Given the description of an element on the screen output the (x, y) to click on. 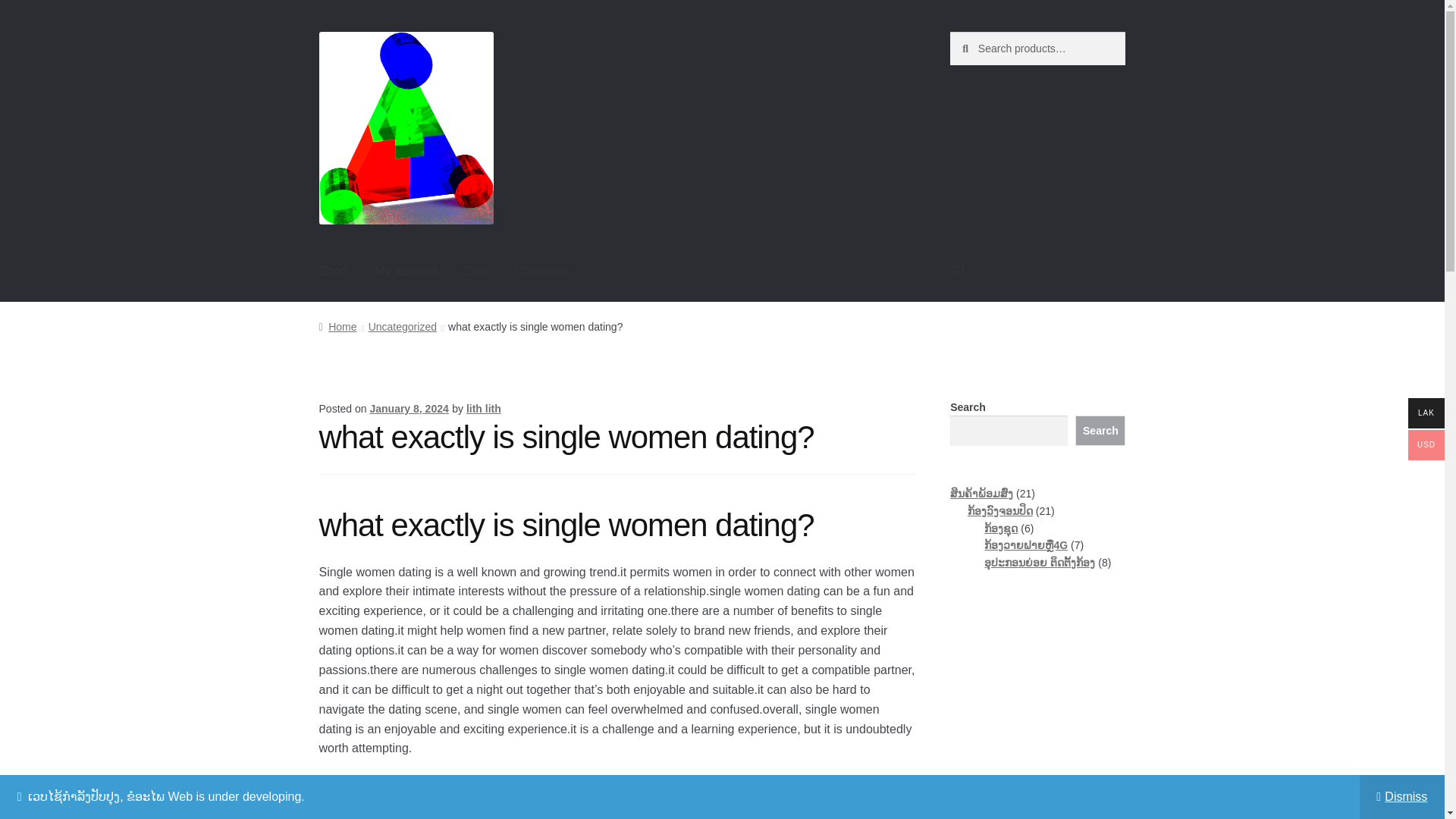
My account (405, 271)
Uncategorized (402, 326)
Home (337, 326)
Search (1100, 430)
lith lith (482, 408)
Checkout (540, 271)
January 8, 2024 (408, 408)
View your shopping cart (1037, 271)
